Given the description of an element on the screen output the (x, y) to click on. 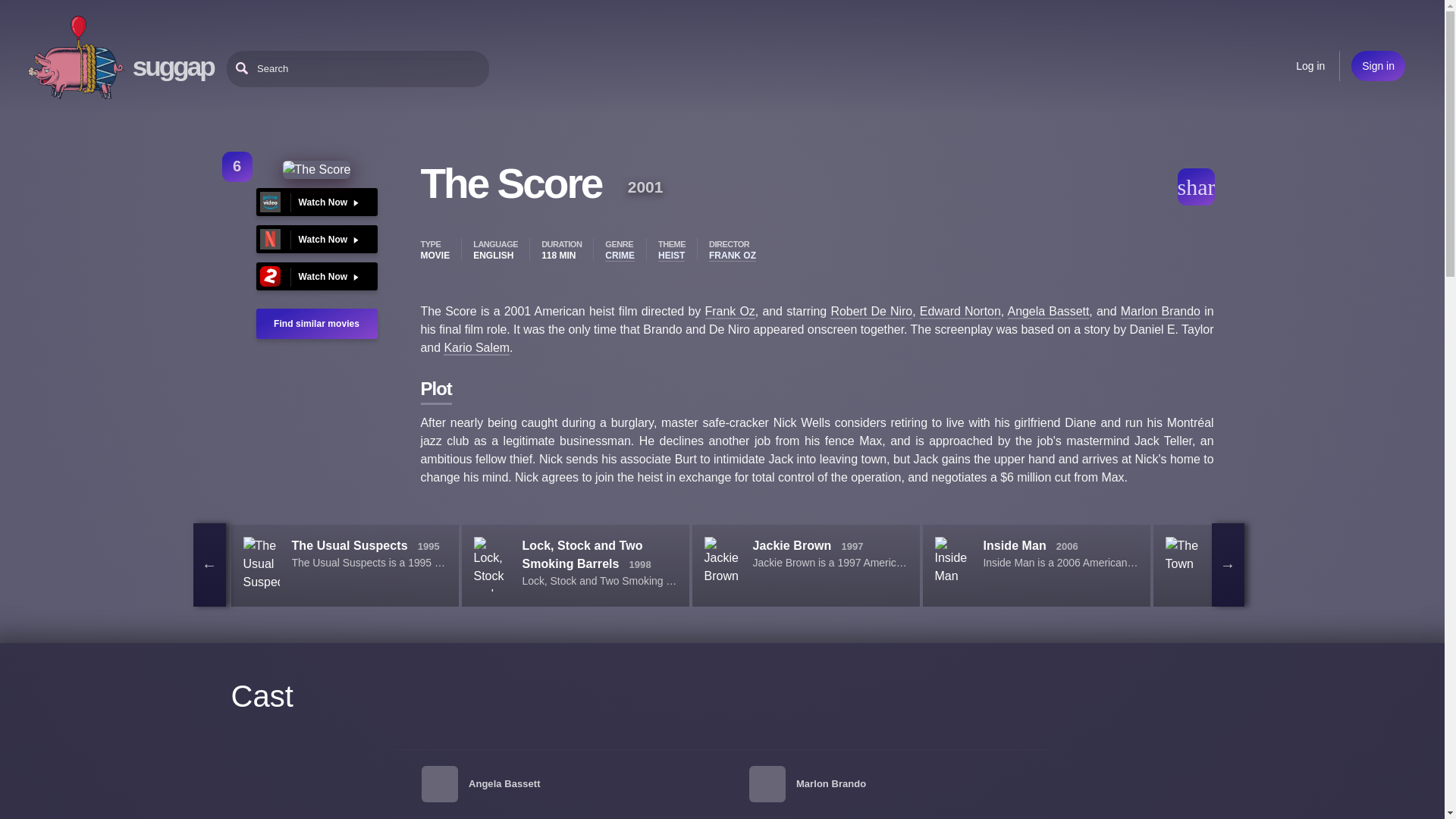
FRANK OZ (732, 255)
suggap (173, 66)
Oink, oink... (76, 57)
Angela Bassett (1048, 311)
Robert De Niro (870, 311)
Kario Salem (476, 348)
Frank Oz (729, 311)
Marlon Brando (1160, 311)
The Usual Suspects (349, 545)
Lock, Stock and Two Smoking Barrels (581, 554)
